Given the description of an element on the screen output the (x, y) to click on. 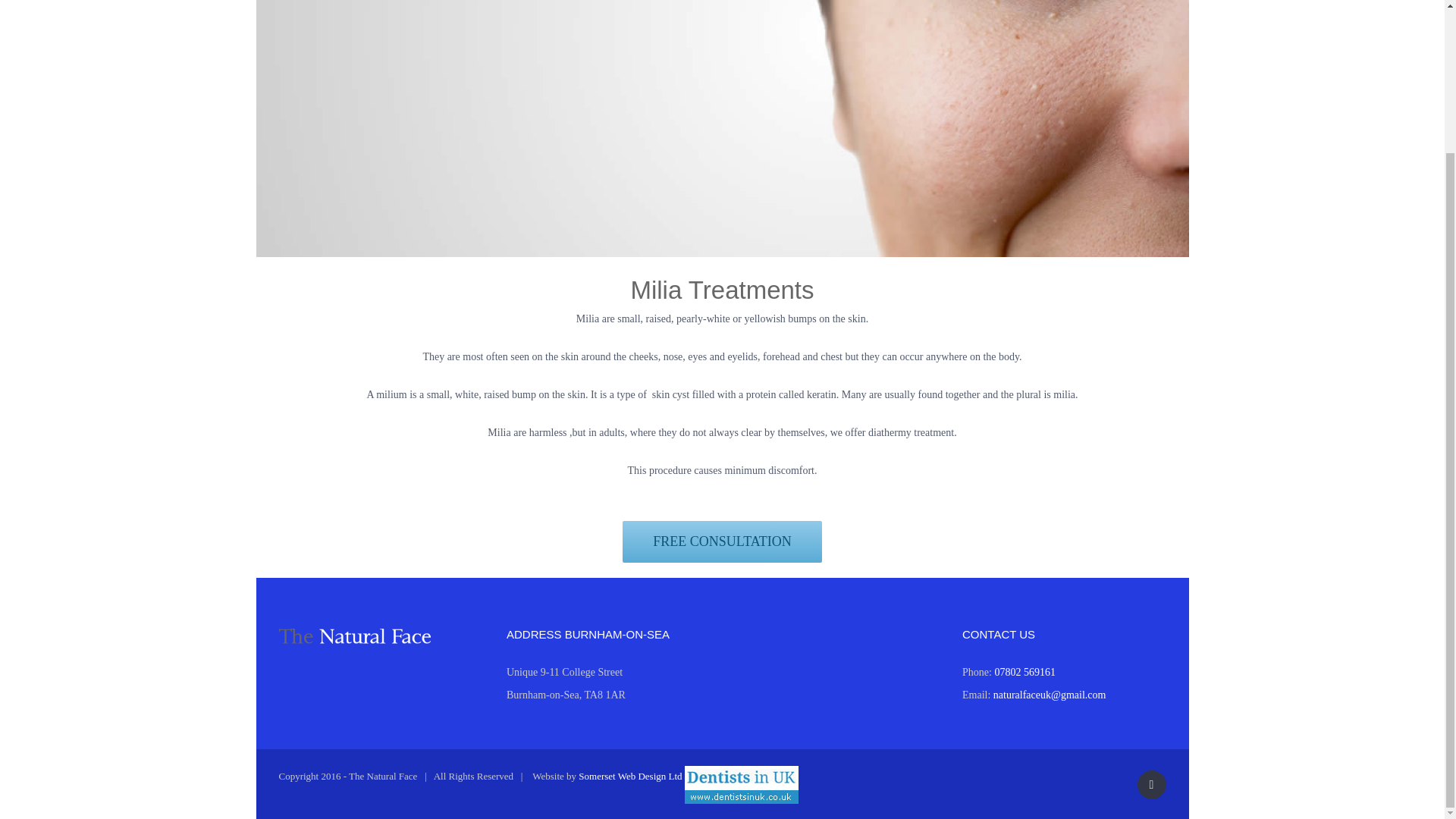
FREE CONSULTATION (722, 537)
